Given the description of an element on the screen output the (x, y) to click on. 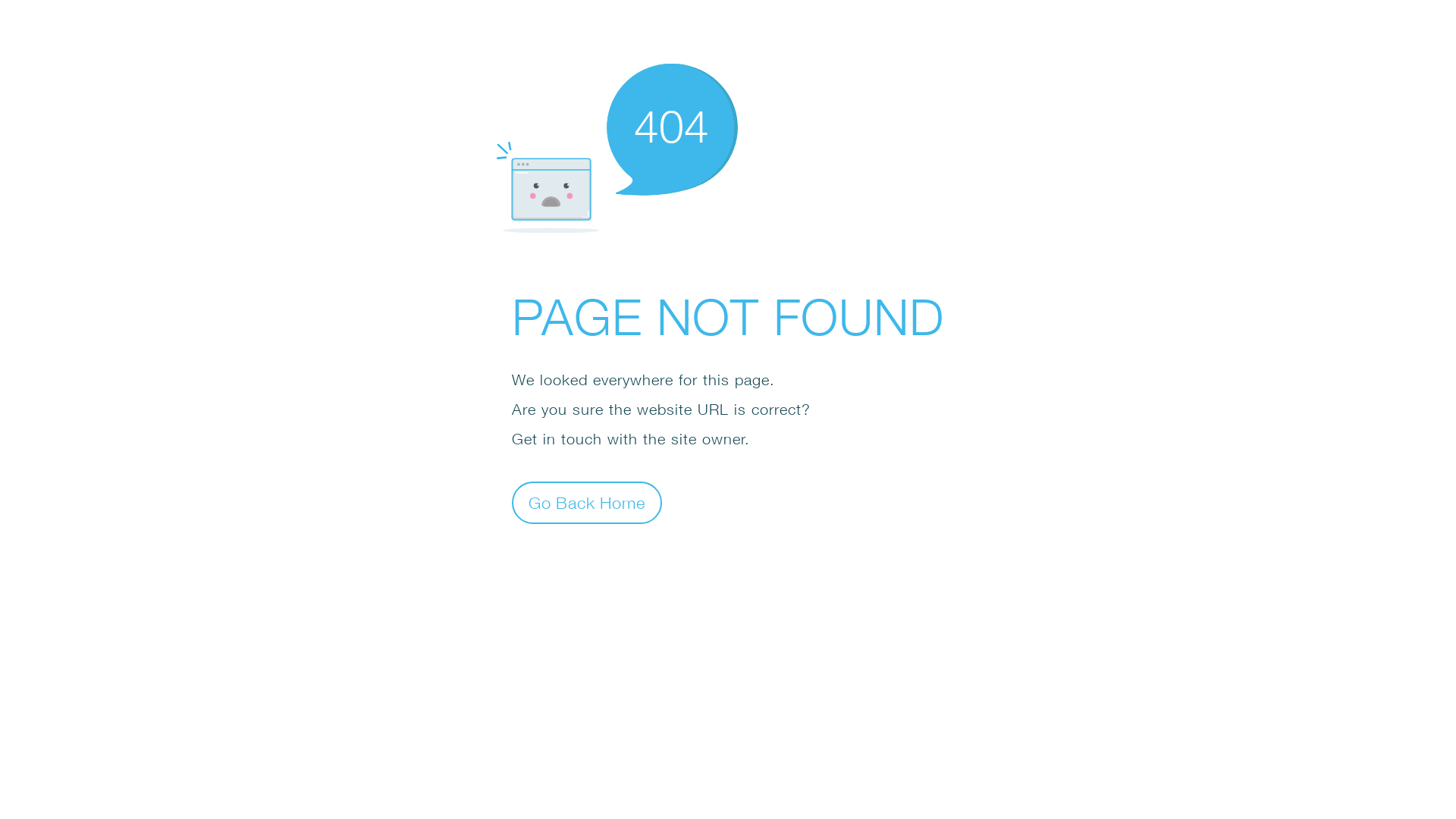
Go Back Home Element type: text (586, 502)
